Given the description of an element on the screen output the (x, y) to click on. 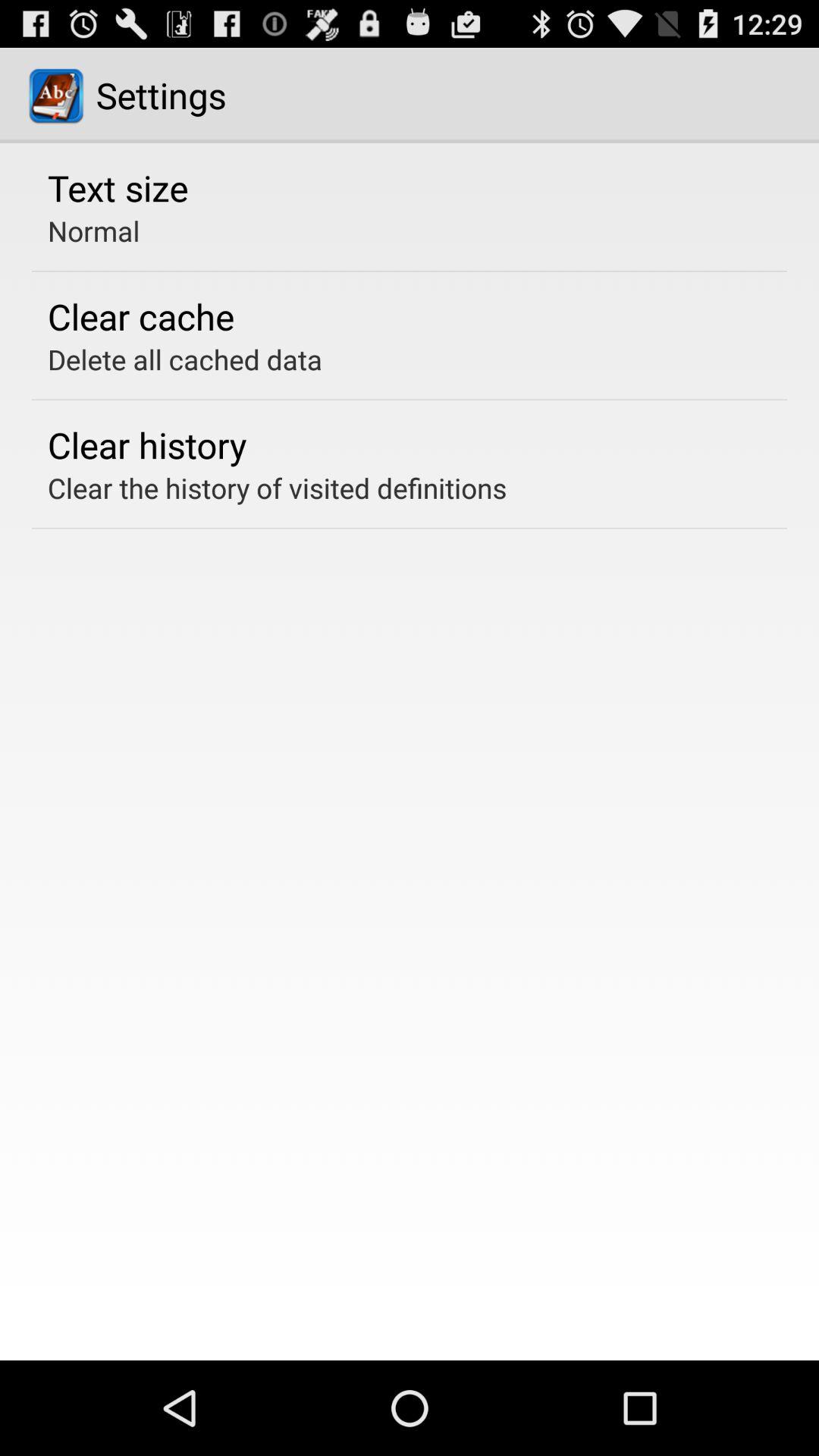
swipe until the text size item (117, 187)
